Given the description of an element on the screen output the (x, y) to click on. 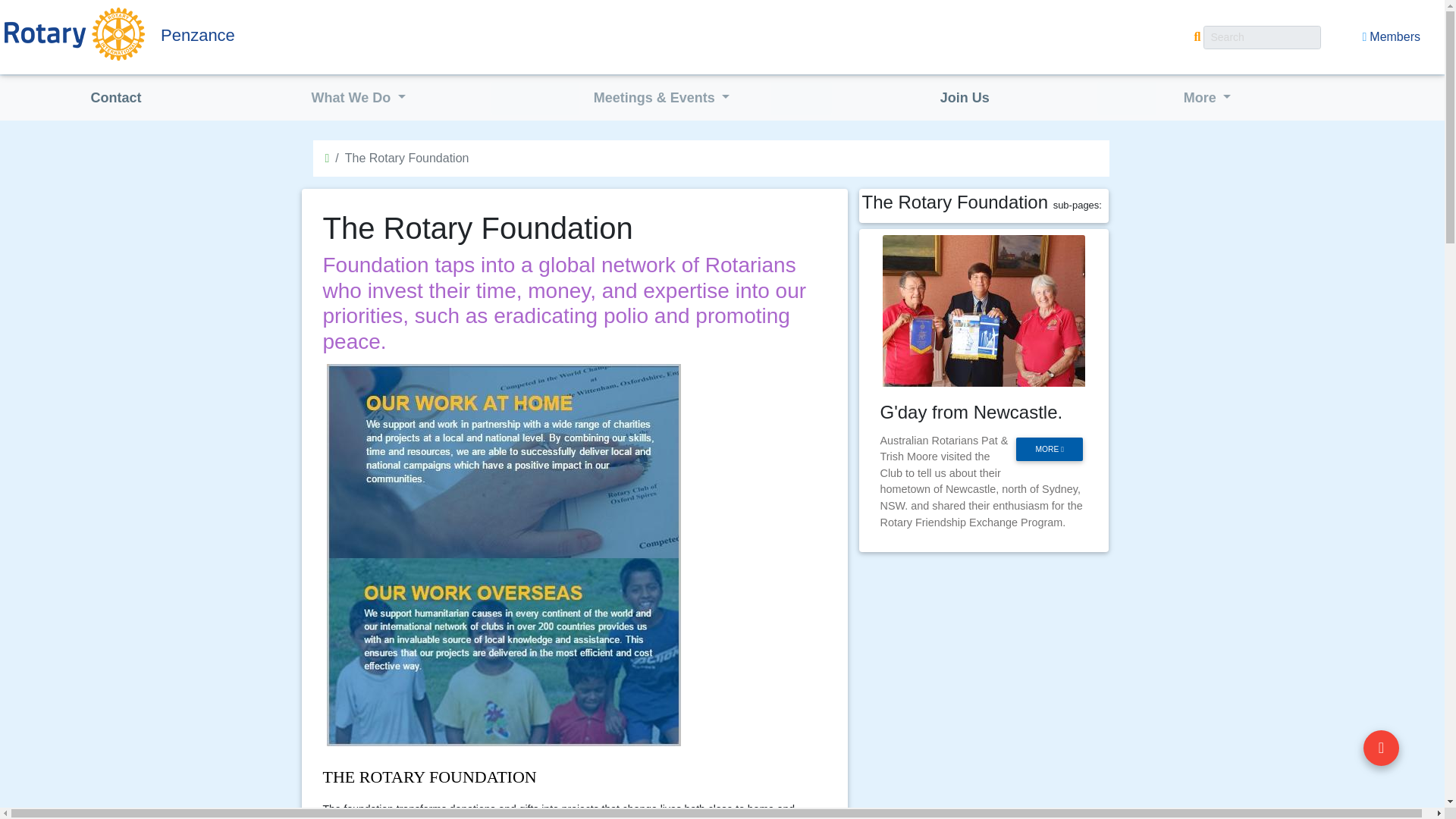
Contact (115, 97)
Penzance (299, 35)
What We Do (358, 97)
Members (1390, 37)
